Given the description of an element on the screen output the (x, y) to click on. 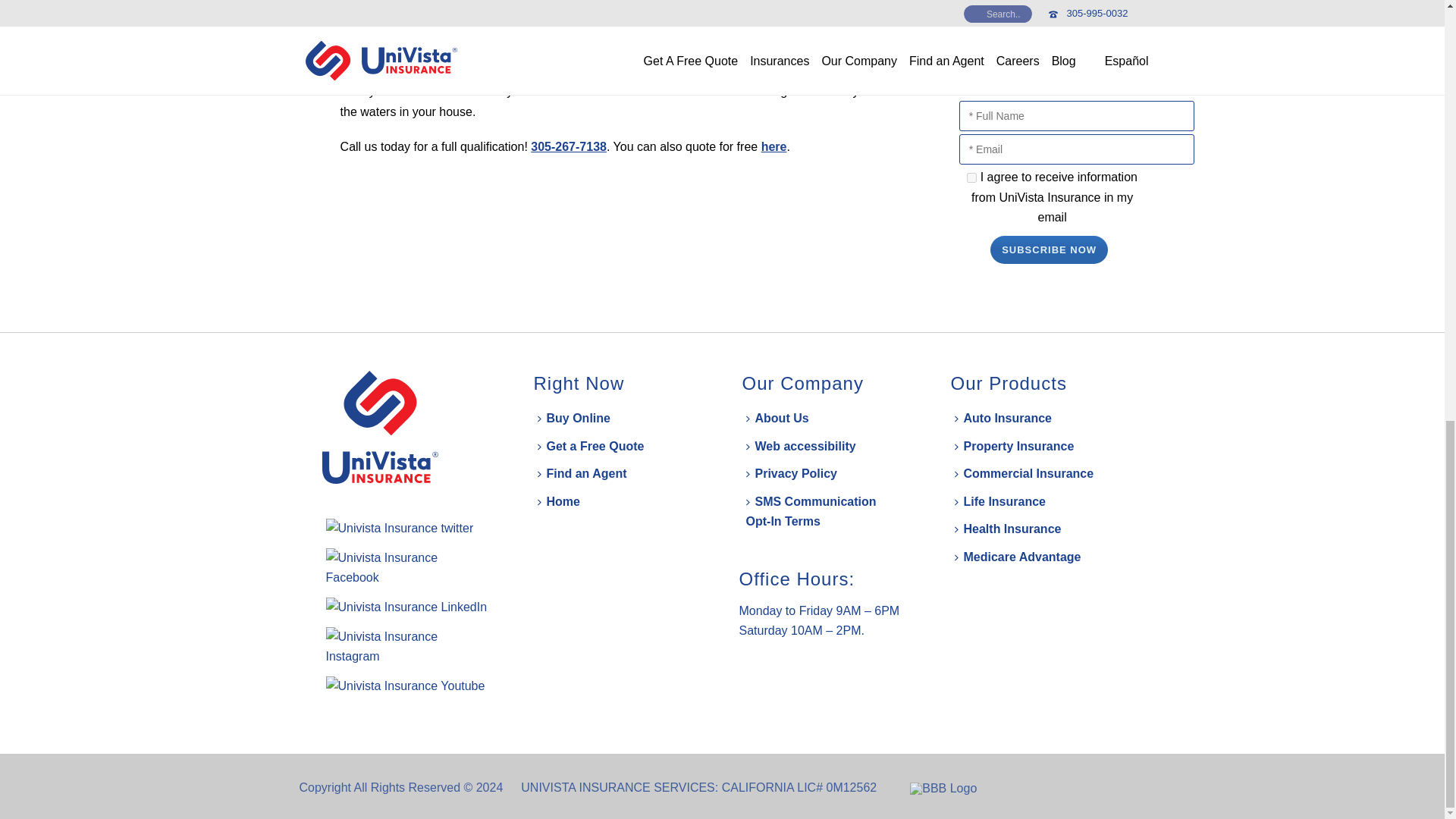
1 (971, 177)
Subscribe Now (1049, 249)
